Given the description of an element on the screen output the (x, y) to click on. 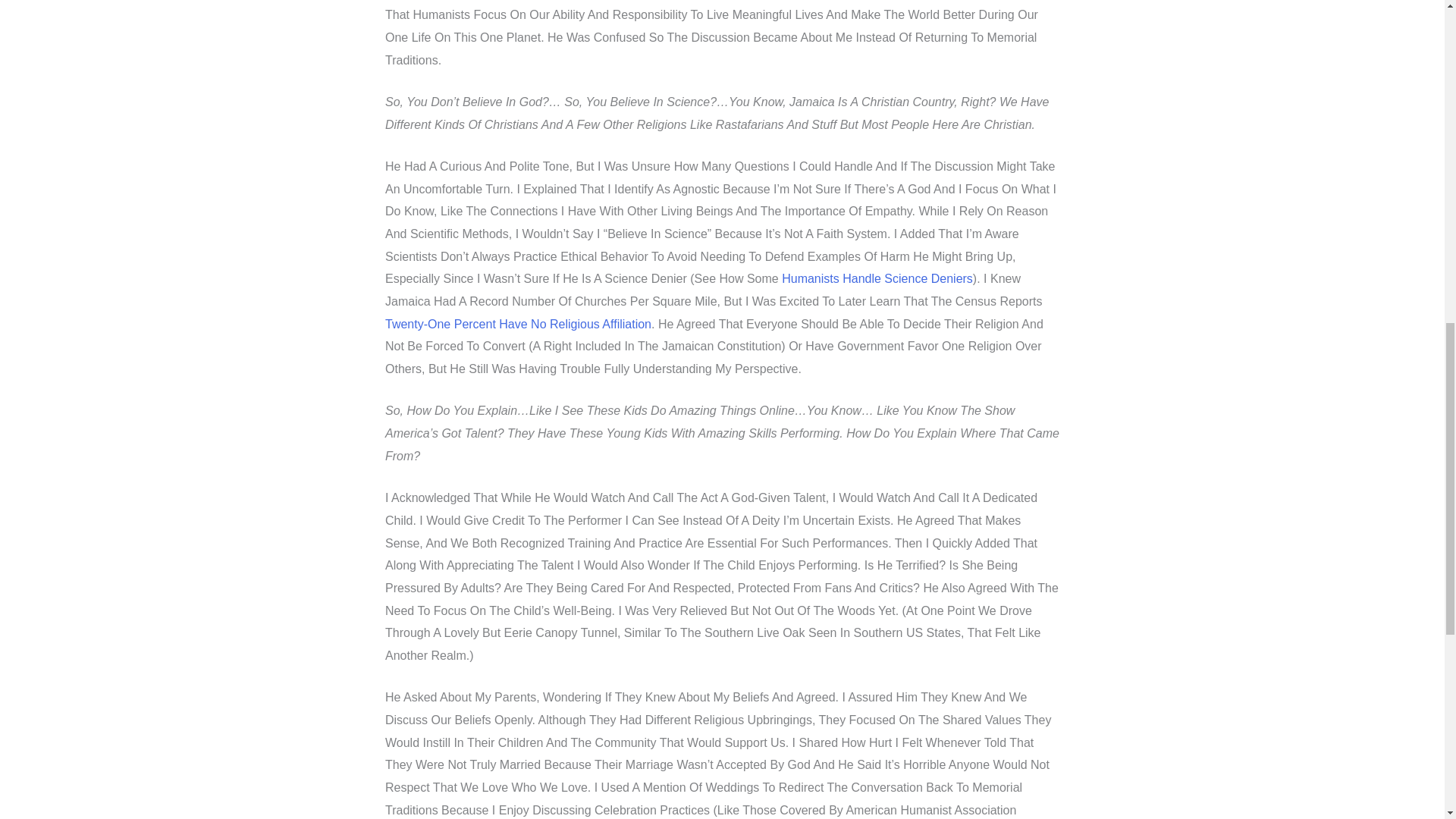
Twenty-One Percent Have No Religious Affiliation (517, 323)
Humanists Handle Science Deniers (876, 278)
